Given the description of an element on the screen output the (x, y) to click on. 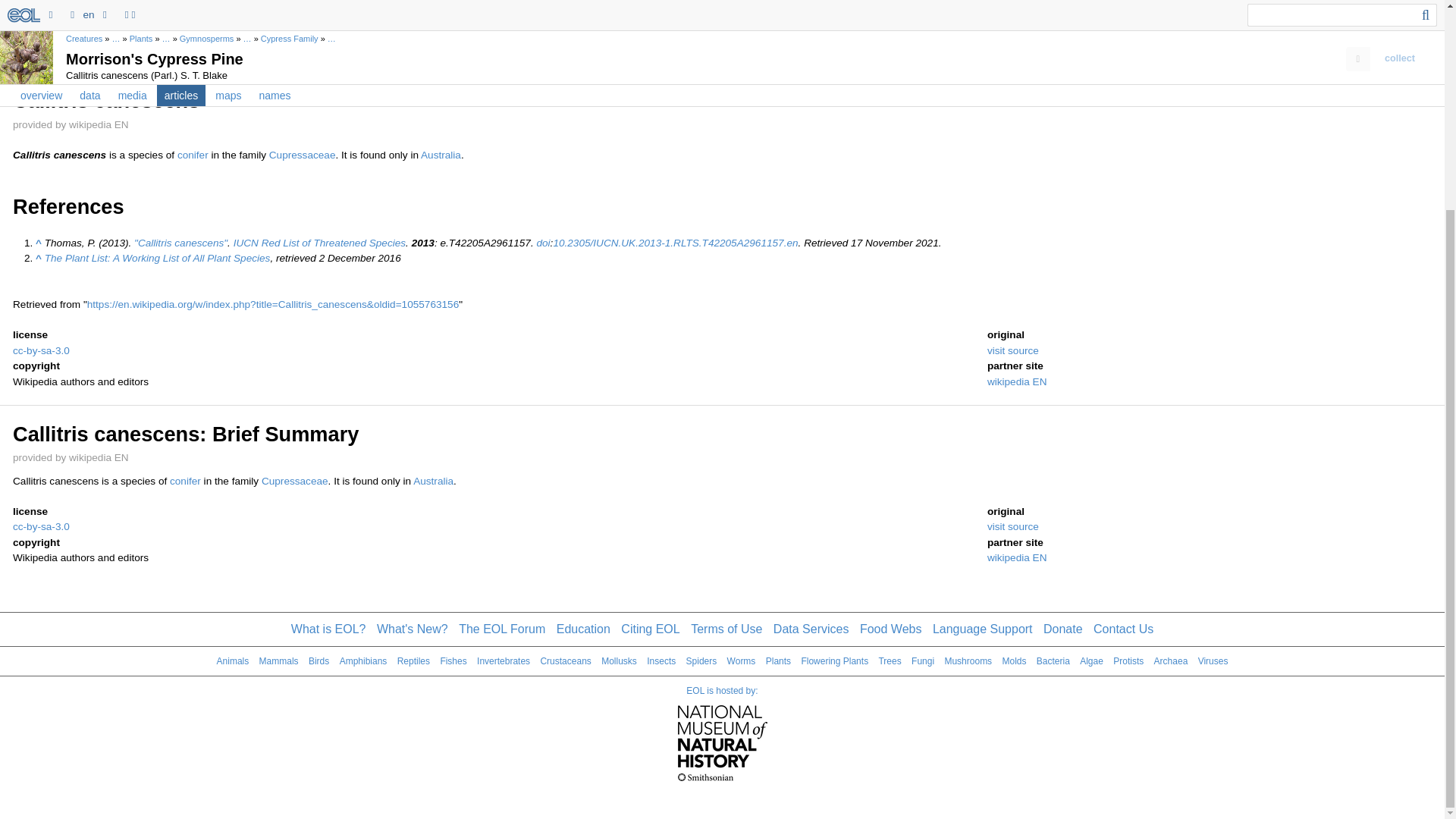
Australia (432, 480)
Australia (440, 154)
IUCN Red List (319, 242)
Cupressaceae (295, 480)
Conifer (185, 480)
Freely accessible (675, 242)
Cupressaceae (302, 154)
Conifer (192, 154)
